Given the description of an element on the screen output the (x, y) to click on. 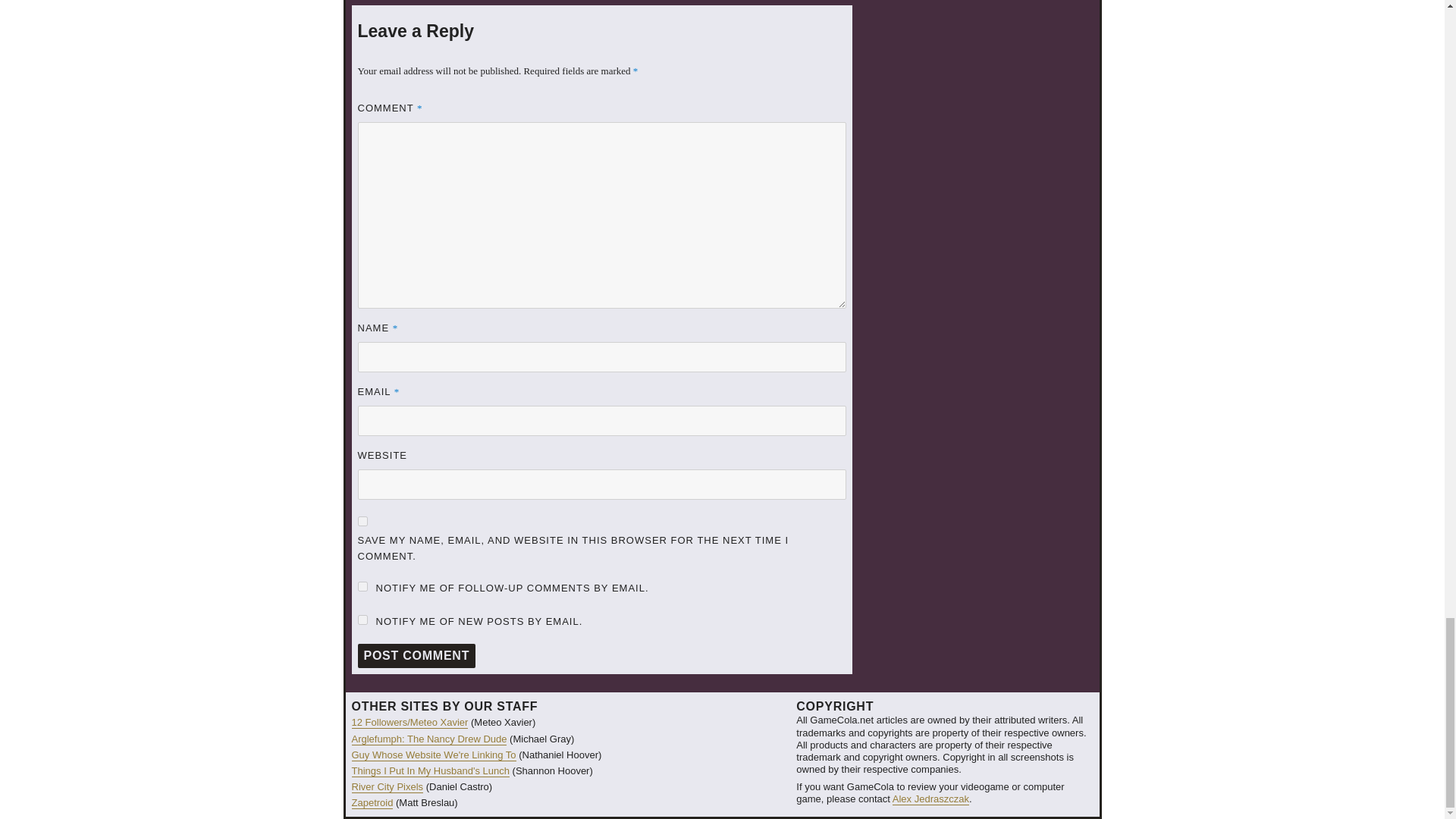
Post Comment (417, 655)
Post Comment (417, 655)
subscribe (363, 586)
subscribe (363, 619)
yes (363, 521)
